Given the description of an element on the screen output the (x, y) to click on. 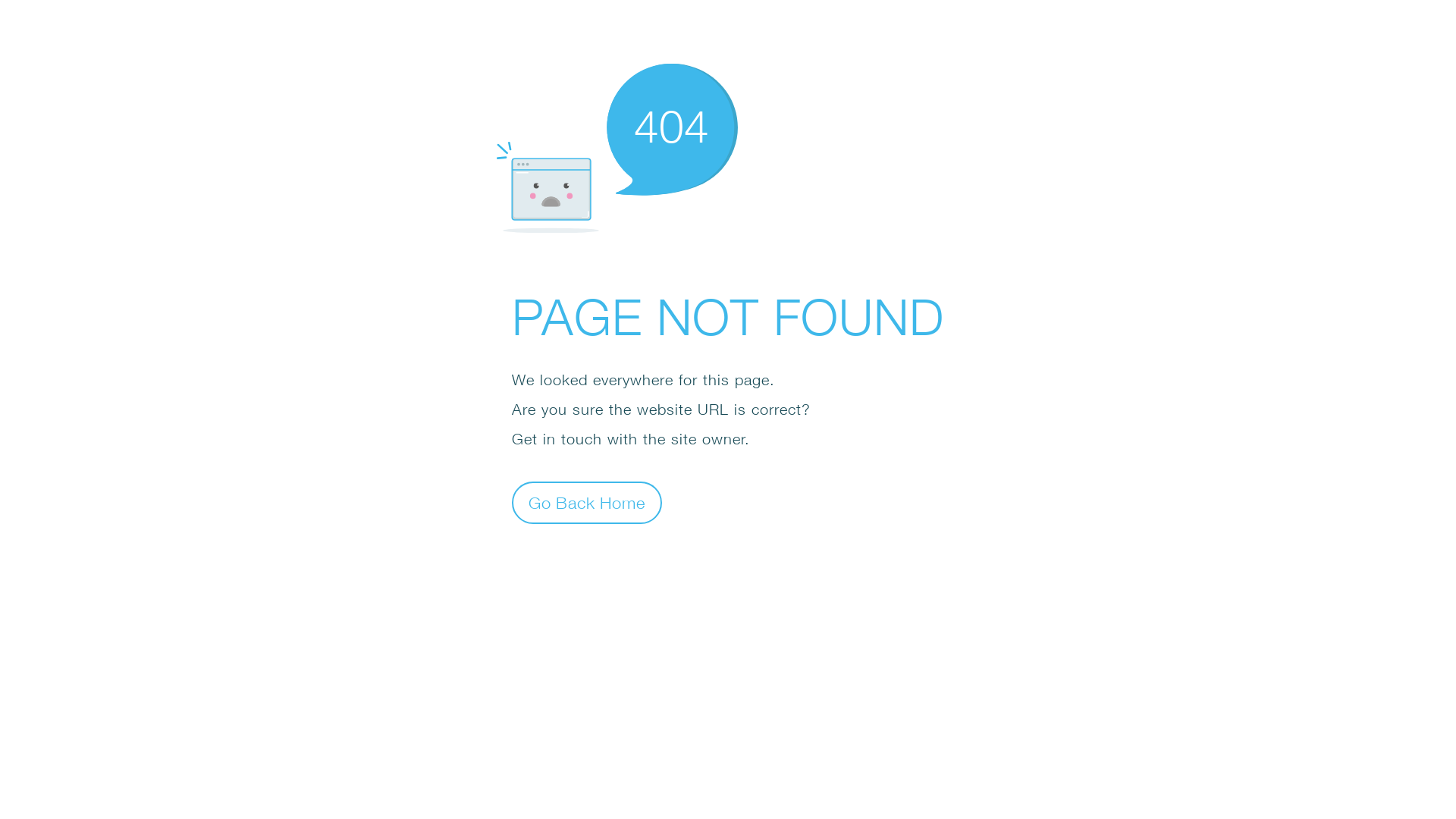
Go Back Home Element type: text (586, 502)
